Given the description of an element on the screen output the (x, y) to click on. 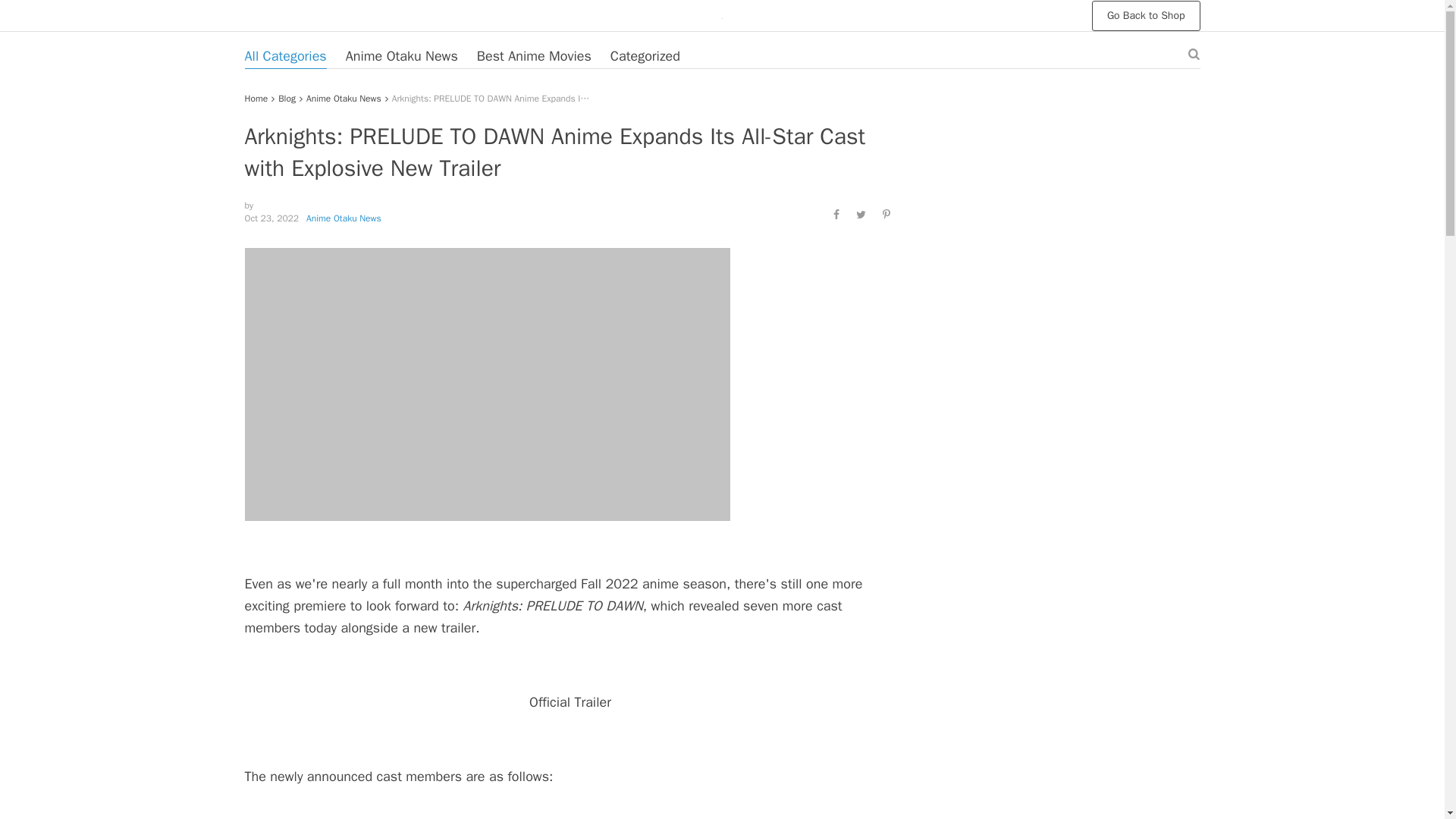
Best Anime Movies (534, 55)
Blog (286, 98)
Anime Otaku News (343, 98)
Home (255, 98)
Anime Otaku News (402, 55)
Anime Otaku News (343, 218)
Categorized (644, 55)
Go Back to Shop (1145, 15)
All Categories (285, 55)
